Given the description of an element on the screen output the (x, y) to click on. 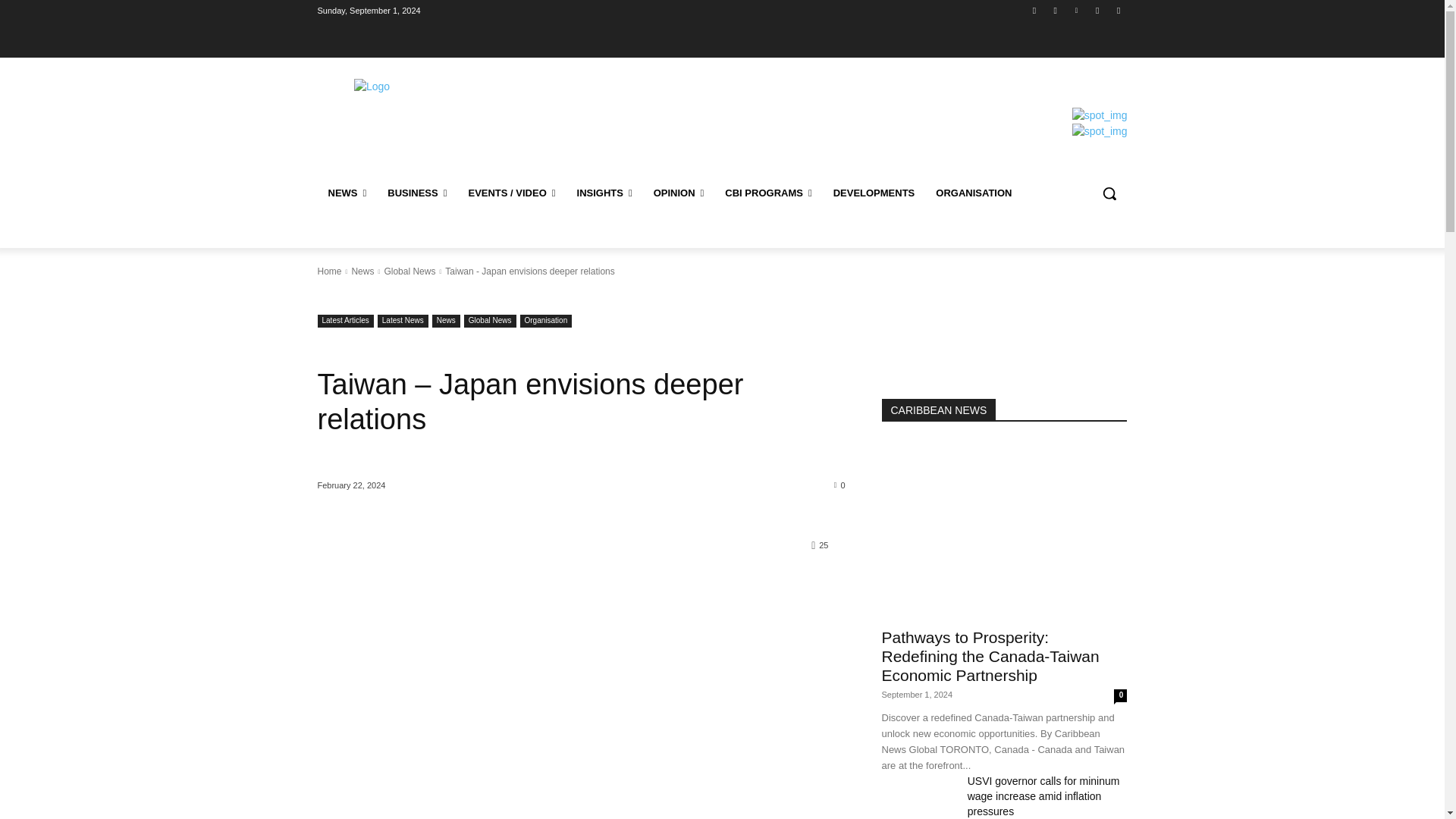
Instagram (1055, 9)
NEWS (347, 193)
Youtube (1117, 9)
Twitter (1097, 9)
Facebook (1034, 9)
Linkedin (1075, 9)
